Given the description of an element on the screen output the (x, y) to click on. 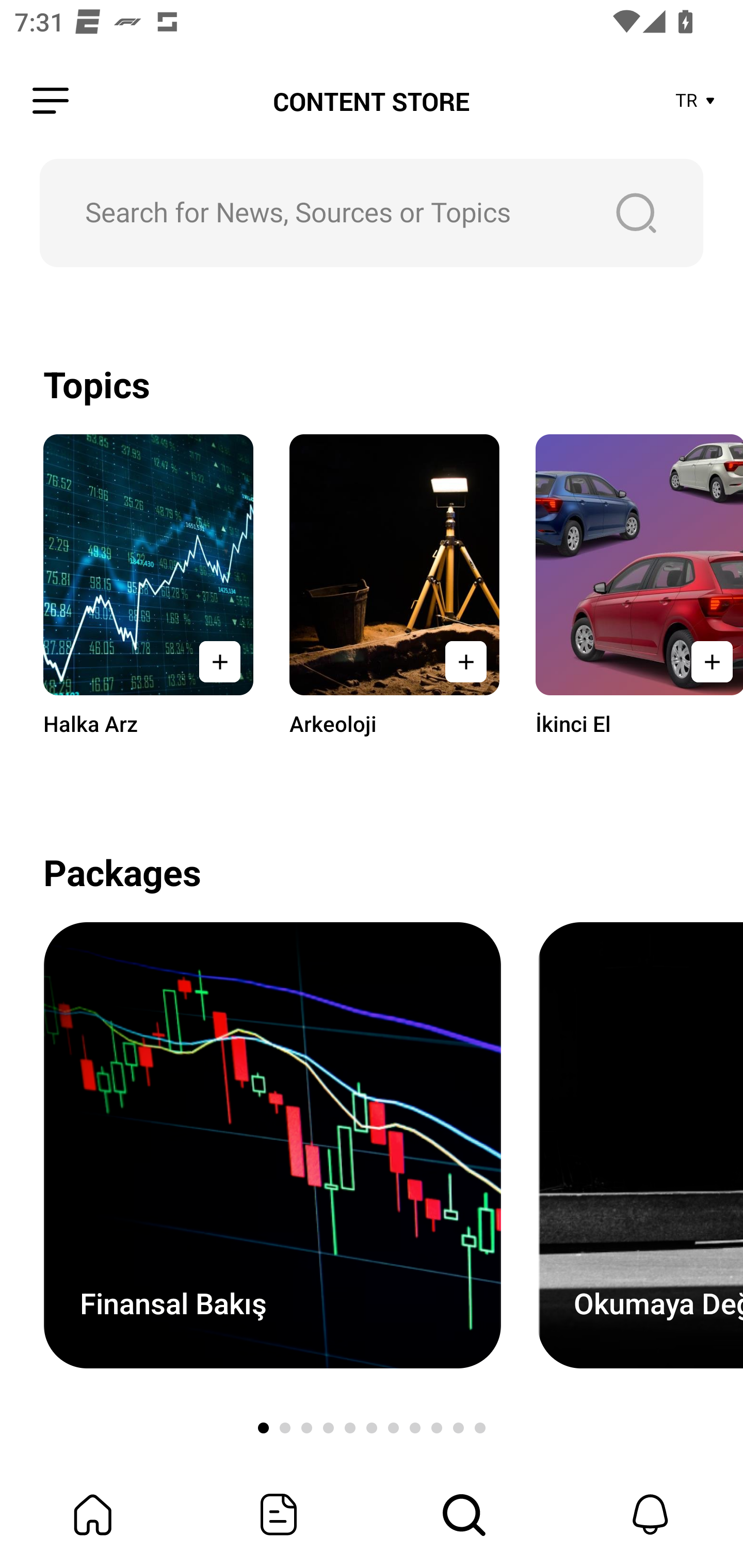
Leading Icon (50, 101)
TR Store Area (695, 101)
Search for News, Sources or Topics Search Button (371, 212)
Add To My Bundle (219, 661)
Add To My Bundle (465, 661)
Add To My Bundle (705, 661)
Content Store Discover Card Image Finansal Bakış (271, 1144)
My Bundle (92, 1514)
Featured (278, 1514)
Notifications (650, 1514)
